Given the description of an element on the screen output the (x, y) to click on. 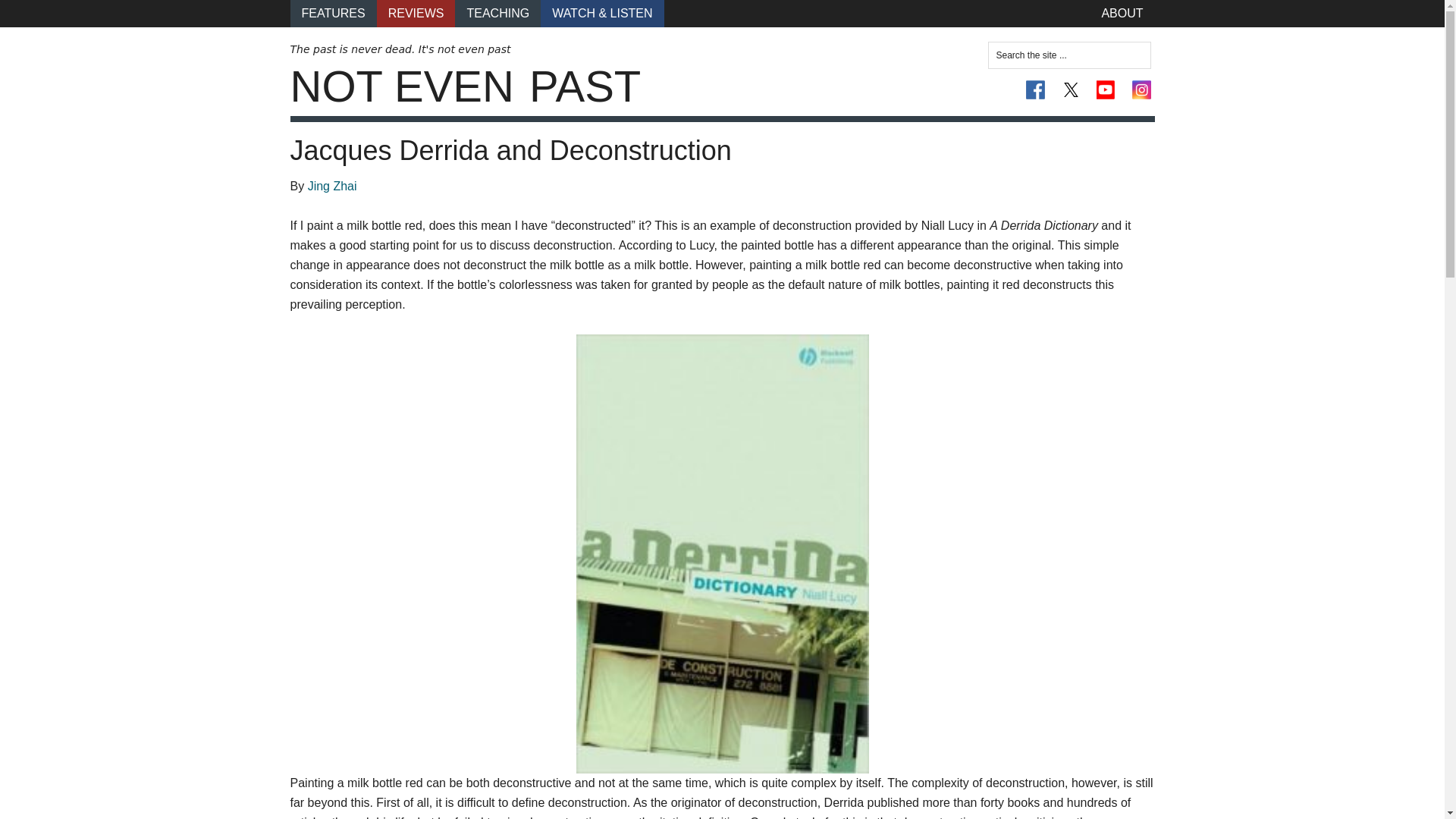
On Facebook (1035, 89)
NOT EVEN PAST (464, 85)
TEACHING (497, 13)
YouTube Channel (1105, 89)
REVIEWS (416, 13)
ABOUT (1121, 13)
On Twitter (1070, 89)
Instagram (1140, 89)
Jacques Derrida and Deconstruction (509, 150)
